Given the description of an element on the screen output the (x, y) to click on. 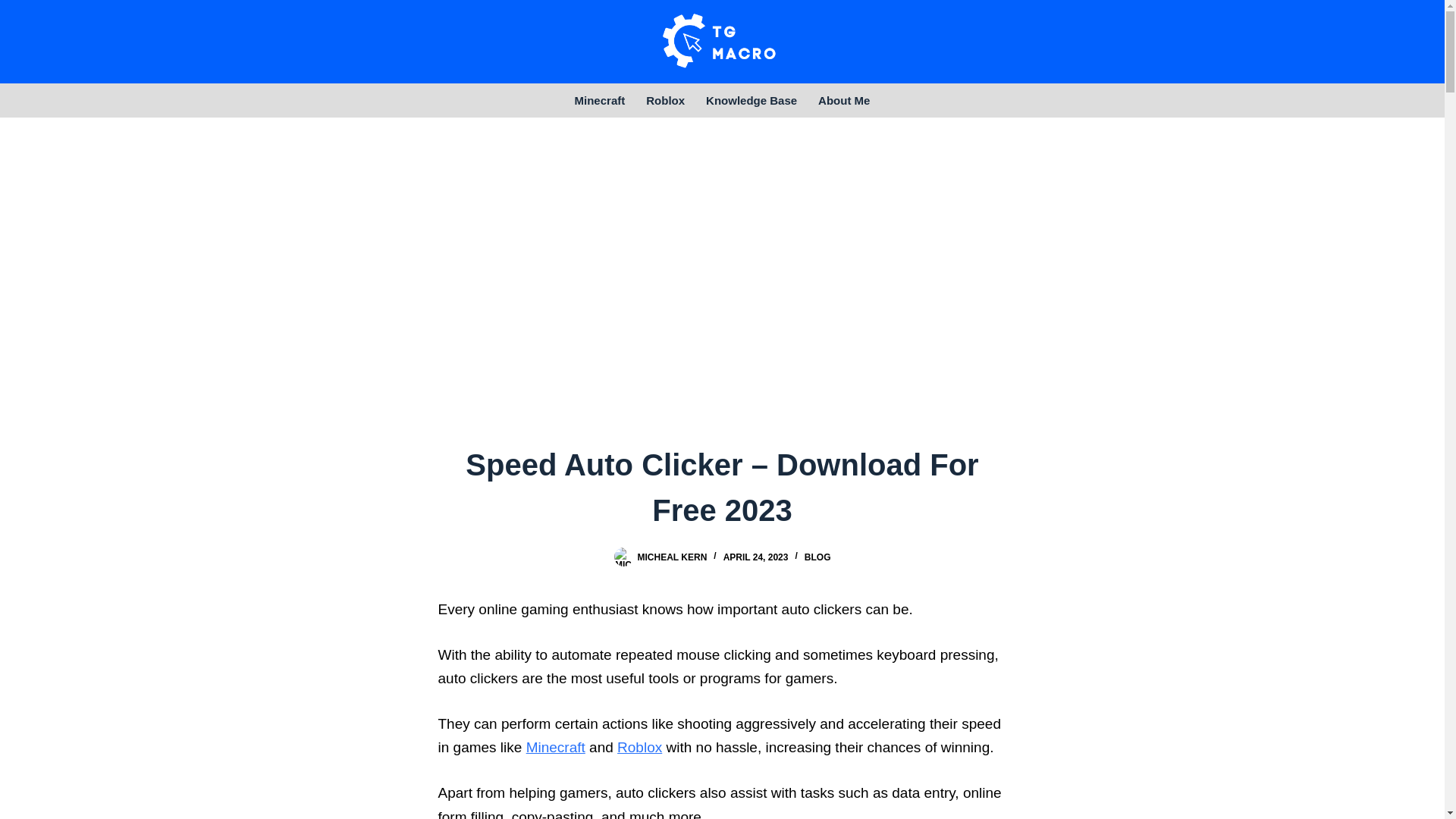
Roblox (639, 747)
Minecraft (600, 100)
Knowledge Base (751, 100)
About Me (844, 100)
Skip to content (15, 7)
Roblox (664, 100)
Minecraft (555, 747)
BLOG (818, 557)
MICHEAL KERN (672, 557)
